Given the description of an element on the screen output the (x, y) to click on. 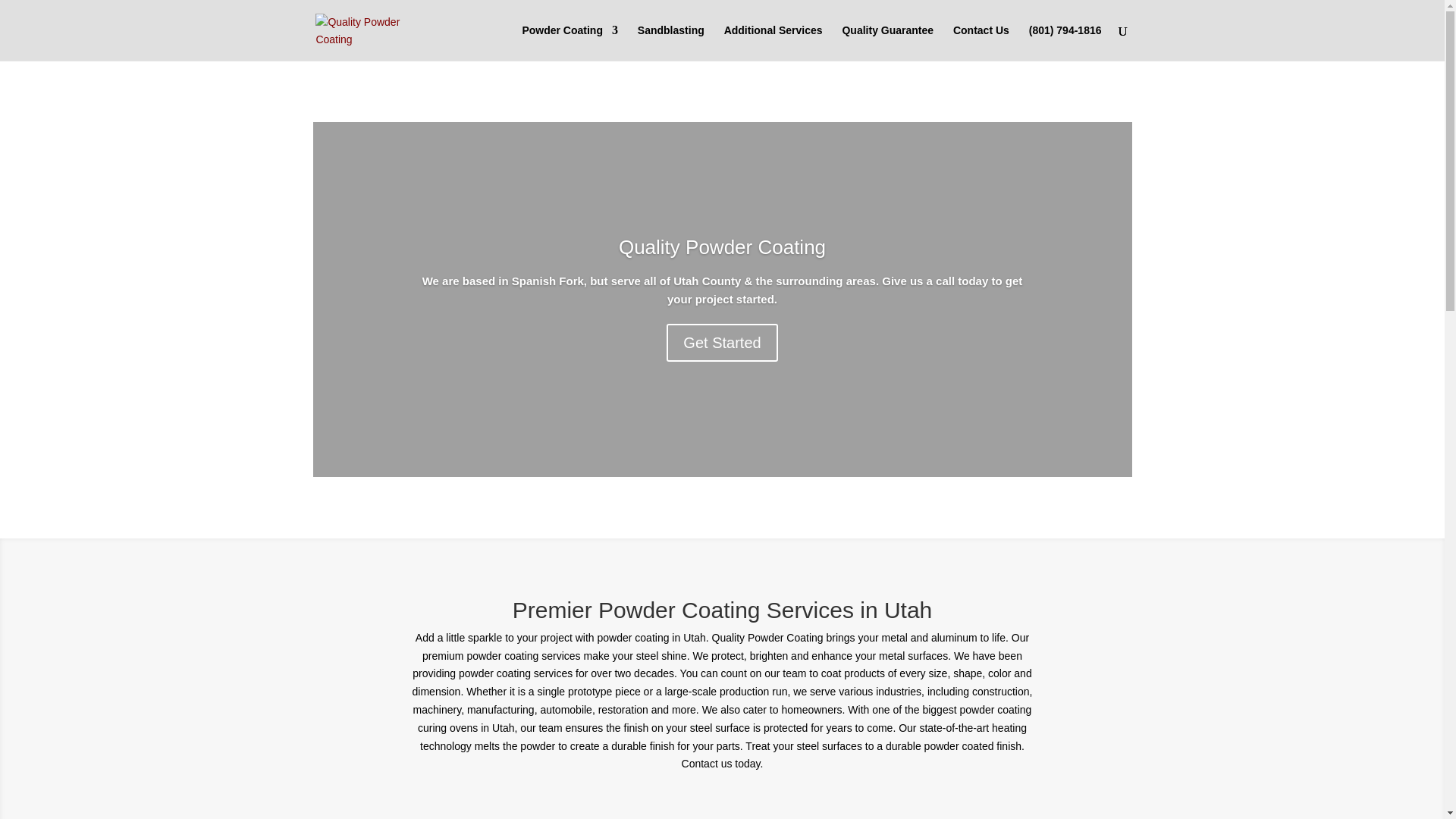
Sandblasting (670, 42)
Quality Guarantee (887, 42)
Powder Coating (569, 42)
Contact Us (981, 42)
Additional Services (772, 42)
